Given the description of an element on the screen output the (x, y) to click on. 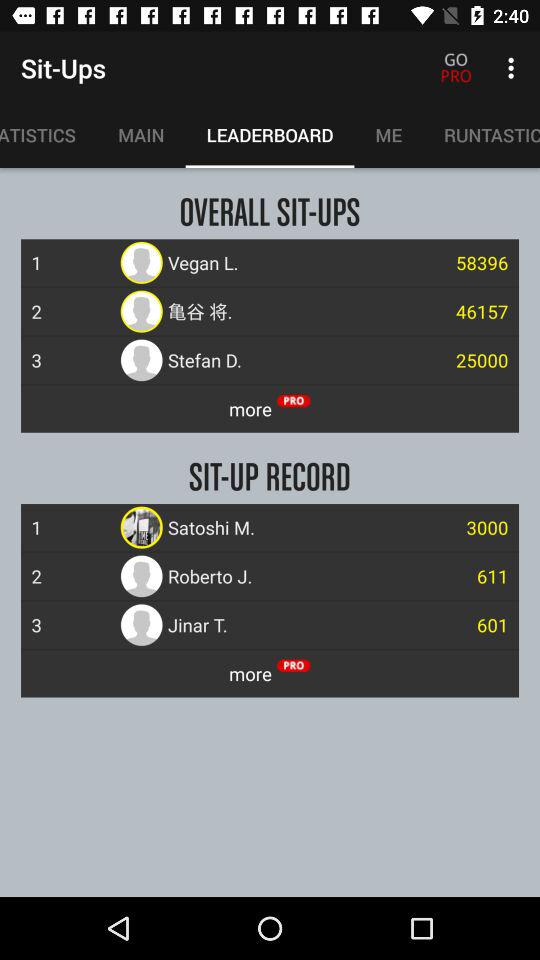
press the item above the overall sit-ups (141, 135)
